Given the description of an element on the screen output the (x, y) to click on. 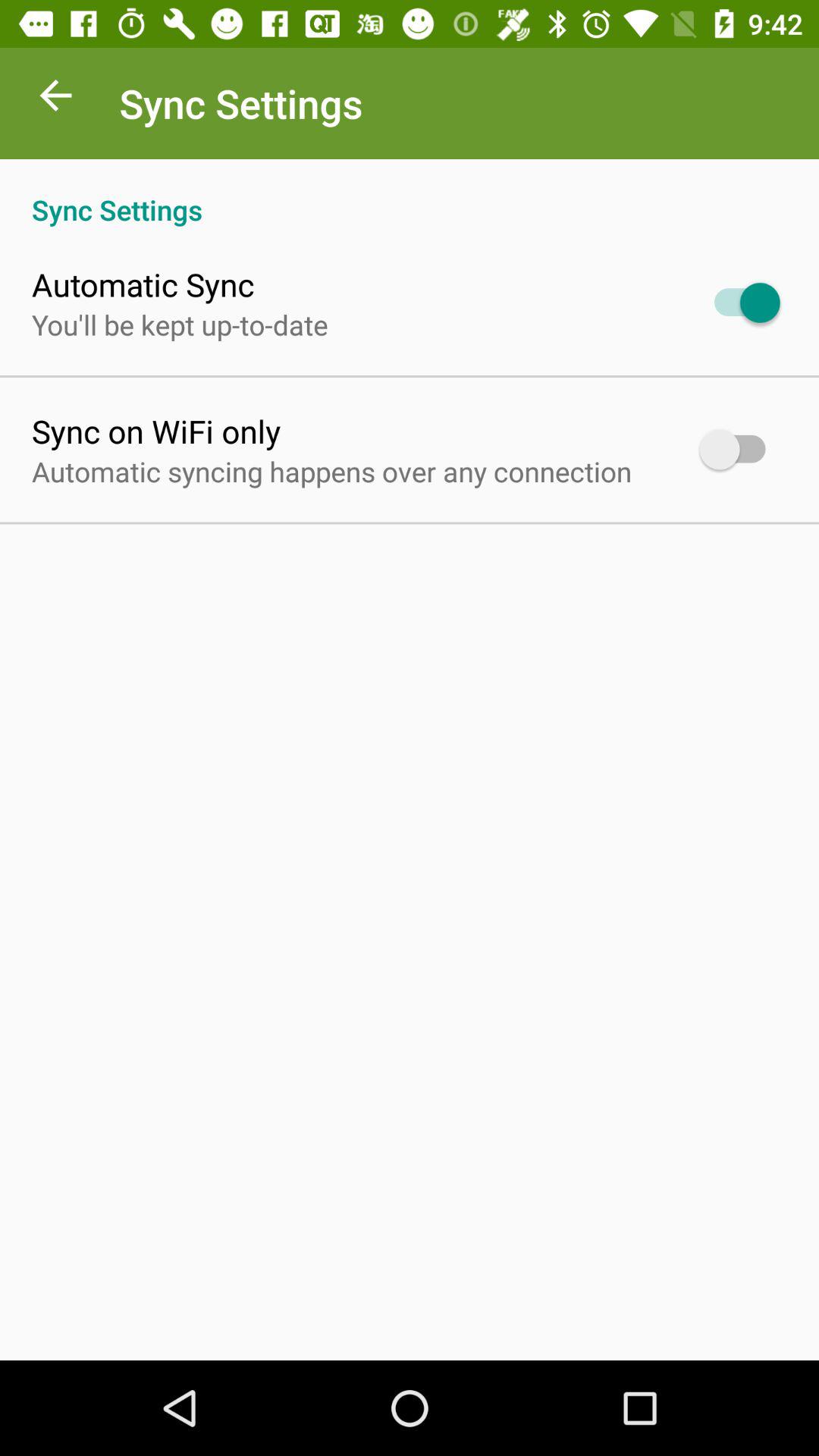
jump until automatic syncing happens (331, 471)
